Given the description of an element on the screen output the (x, y) to click on. 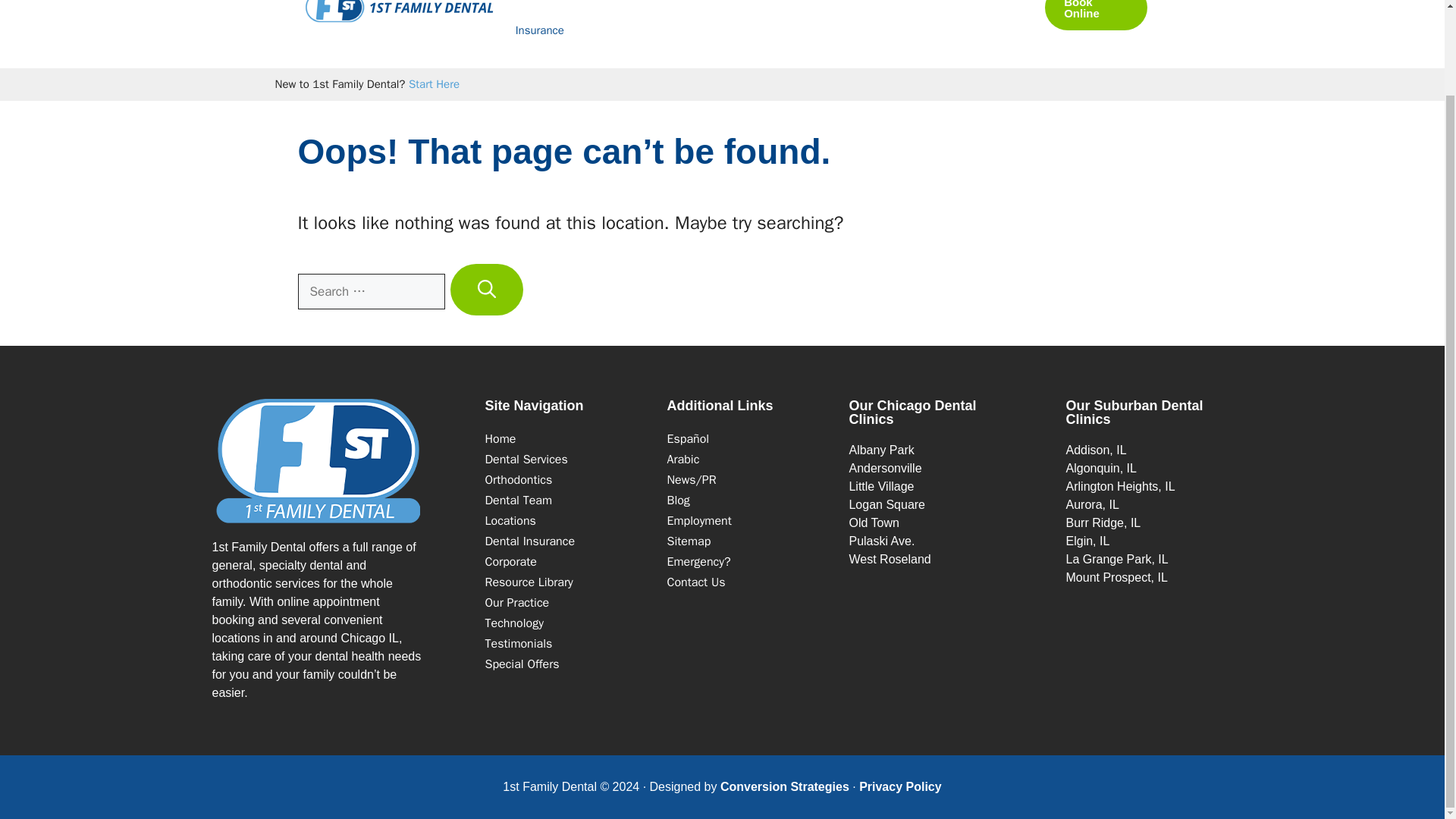
Insurance (529, 540)
Orthodontics (756, 3)
Dental Team (518, 500)
Dental Services (563, 3)
Locations (861, 3)
Corporate Partnerships (510, 561)
Search for: (370, 291)
Insurance (539, 30)
Dental Services (525, 459)
Resource Library (528, 581)
